Given the description of an element on the screen output the (x, y) to click on. 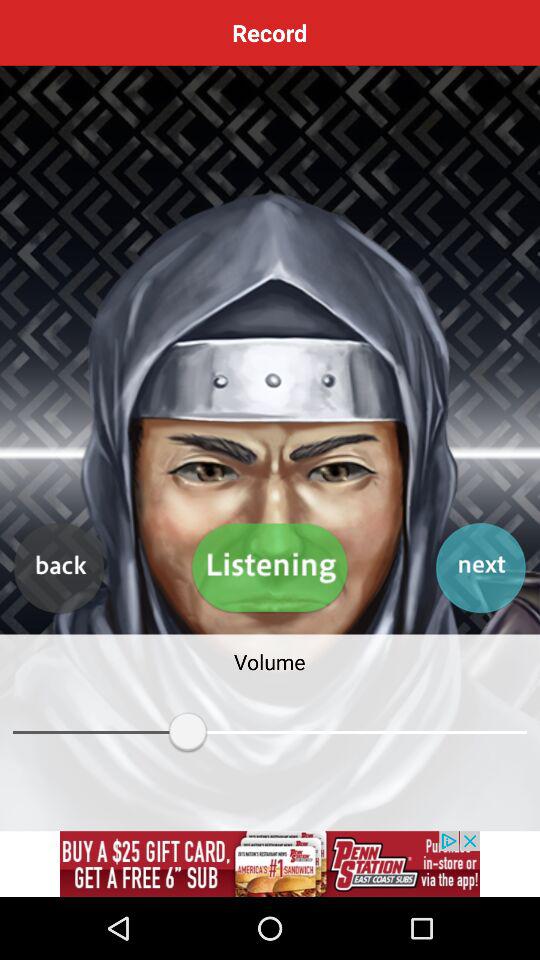
play audio option (269, 568)
